Given the description of an element on the screen output the (x, y) to click on. 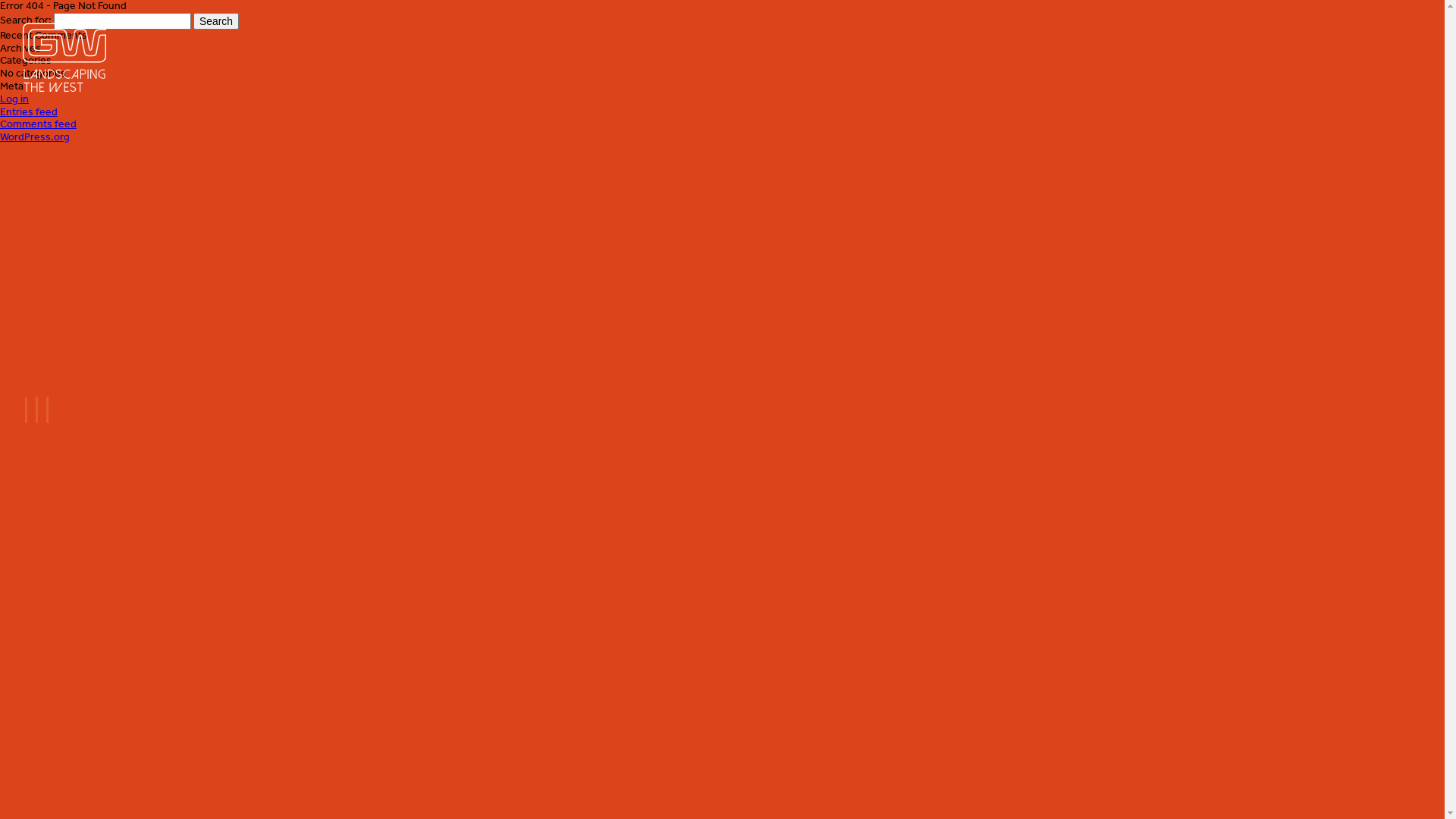
Log in Element type: text (14, 98)
Entries feed Element type: text (28, 111)
Search Element type: text (215, 20)
Comments feed Element type: text (38, 123)
WordPress.org Element type: text (34, 136)
